Given the description of an element on the screen output the (x, y) to click on. 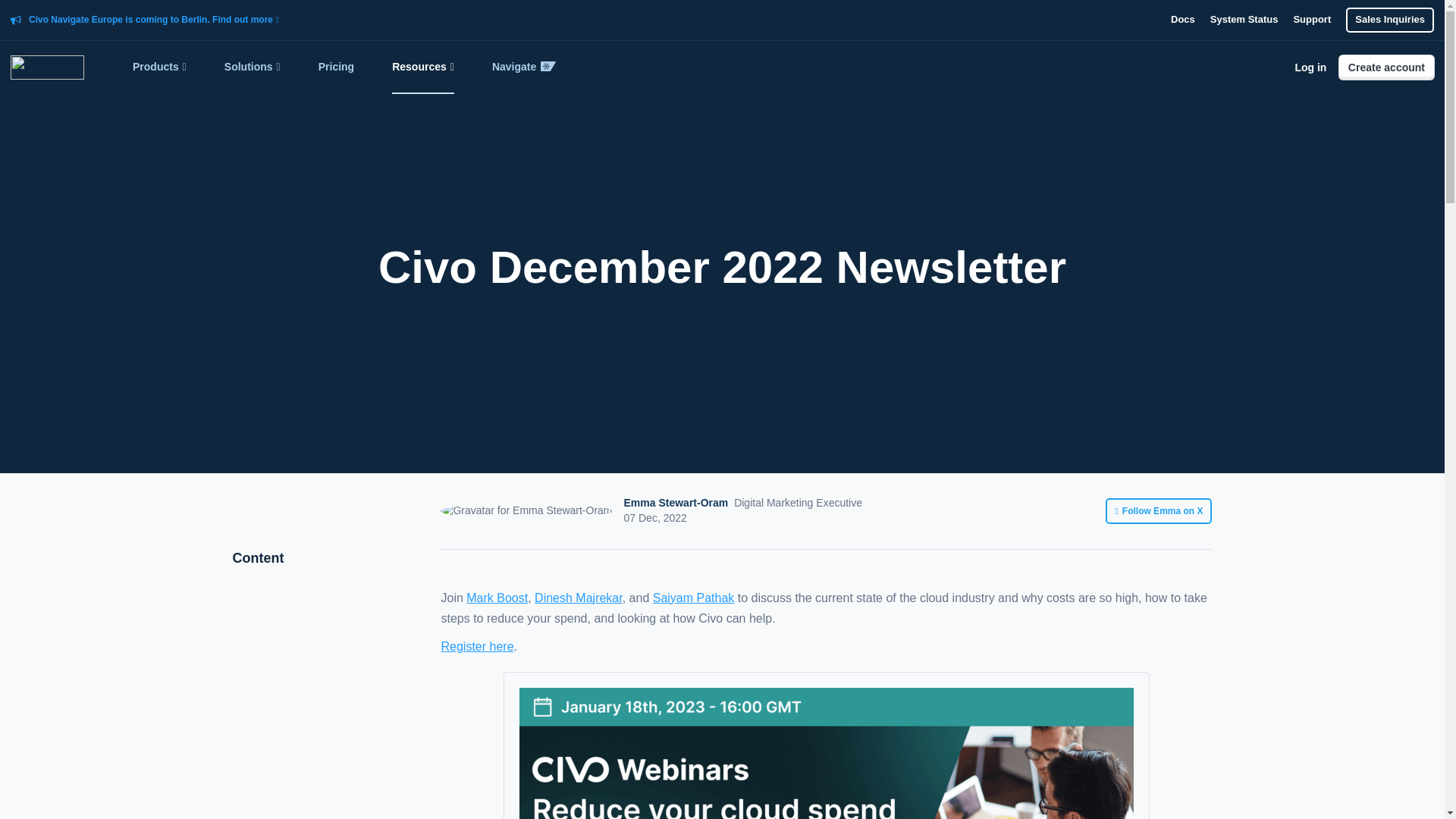
Resources (422, 67)
Navigate (524, 67)
Solutions (252, 67)
System Status (1243, 20)
Sales Inquiries (1389, 19)
Civo Navigate Europe is coming to Berlin. Find out more (154, 19)
Docs (1182, 20)
Products (159, 67)
Support (1311, 20)
